Given the description of an element on the screen output the (x, y) to click on. 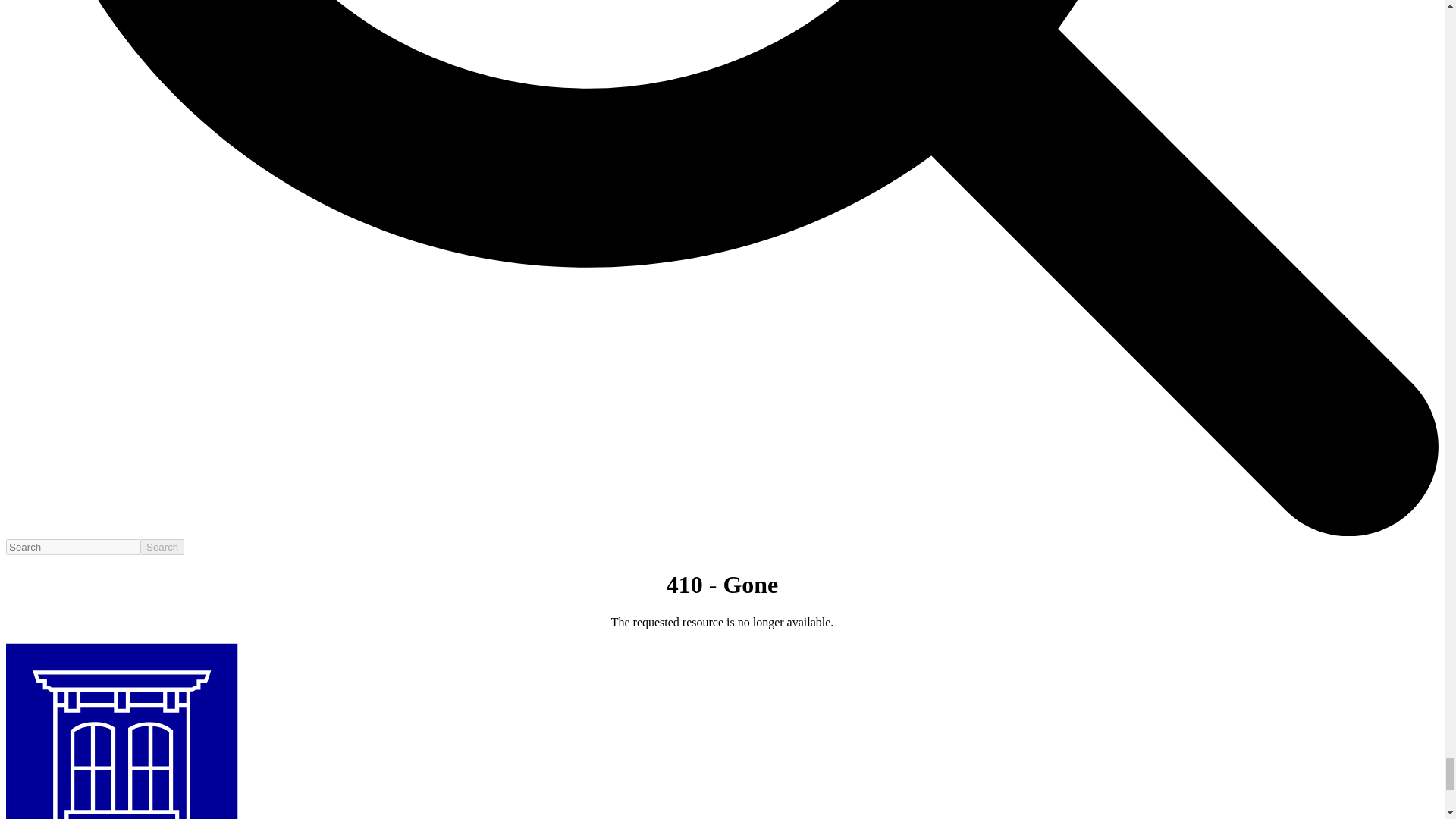
Search (161, 546)
